Given the description of an element on the screen output the (x, y) to click on. 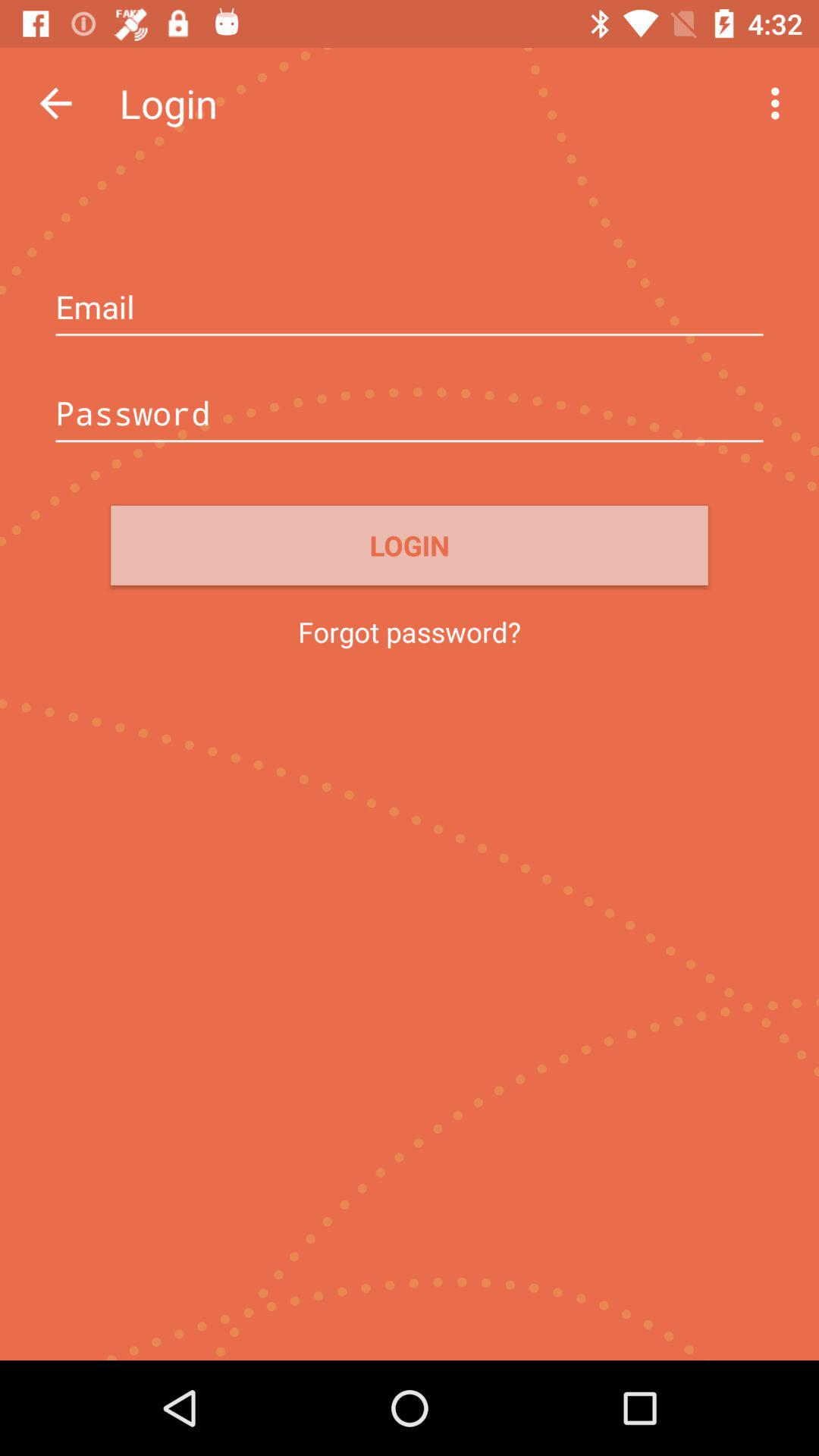
box to add password (409, 415)
